Given the description of an element on the screen output the (x, y) to click on. 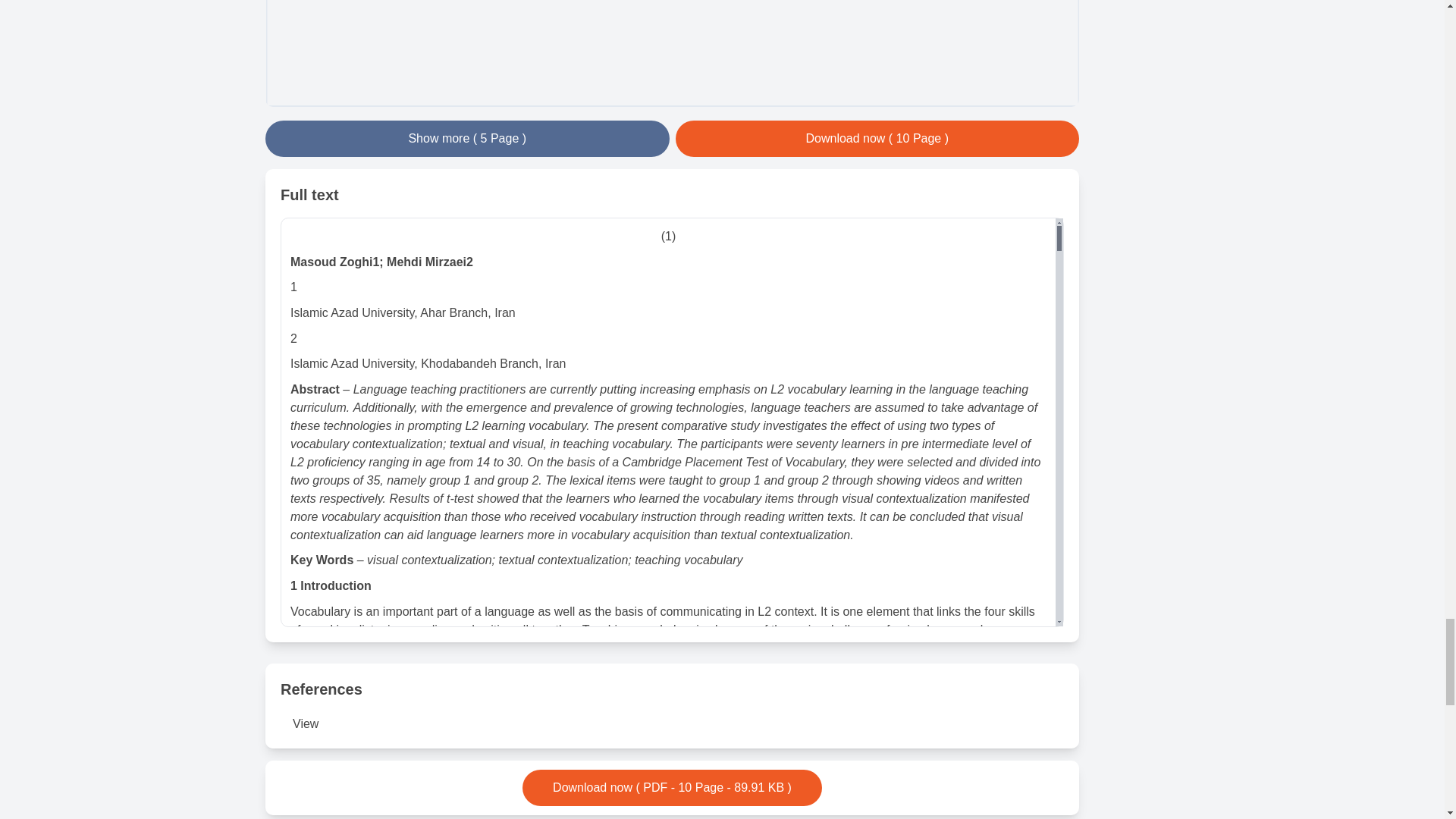
View (305, 723)
